Given the description of an element on the screen output the (x, y) to click on. 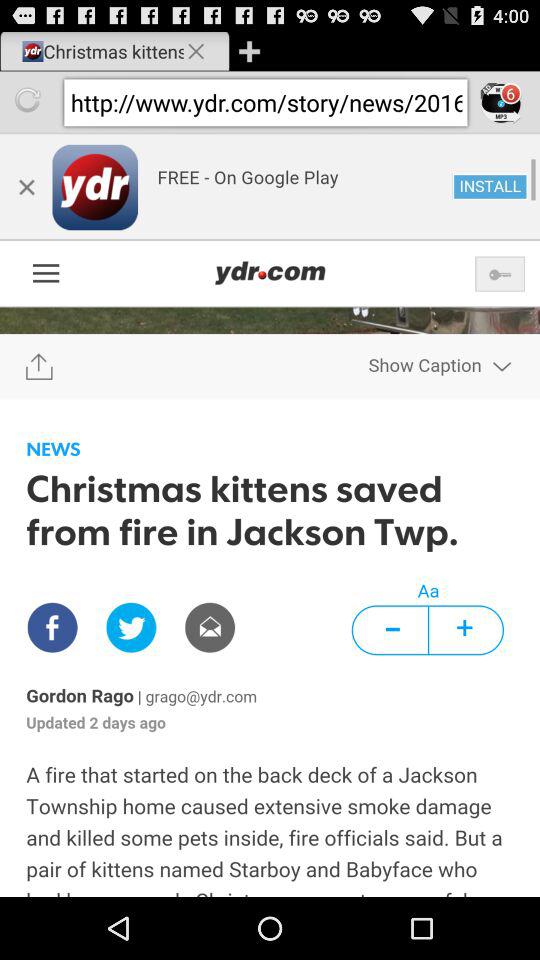
open new window (249, 50)
